Given the description of an element on the screen output the (x, y) to click on. 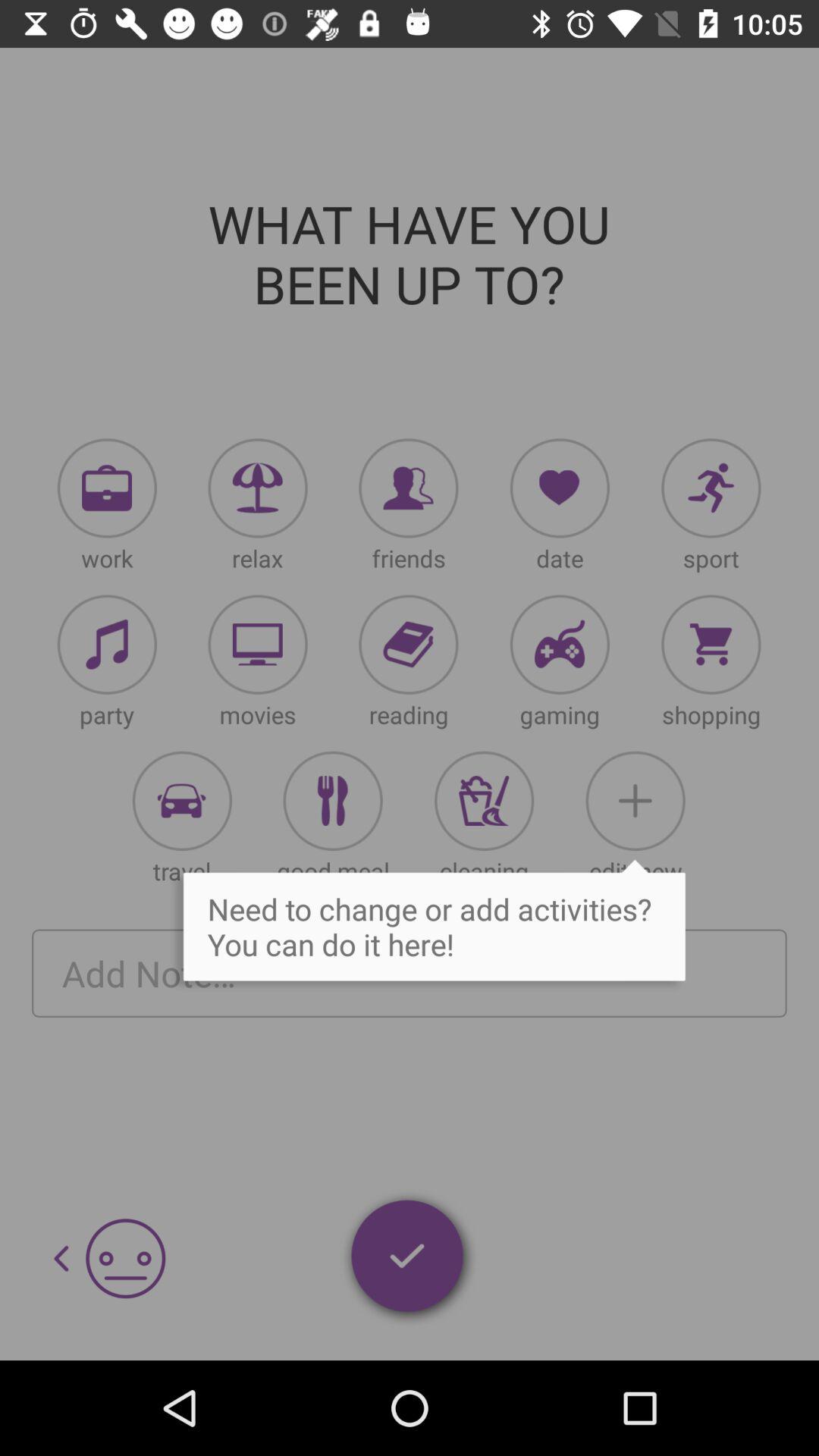
log date (559, 488)
